Given the description of an element on the screen output the (x, y) to click on. 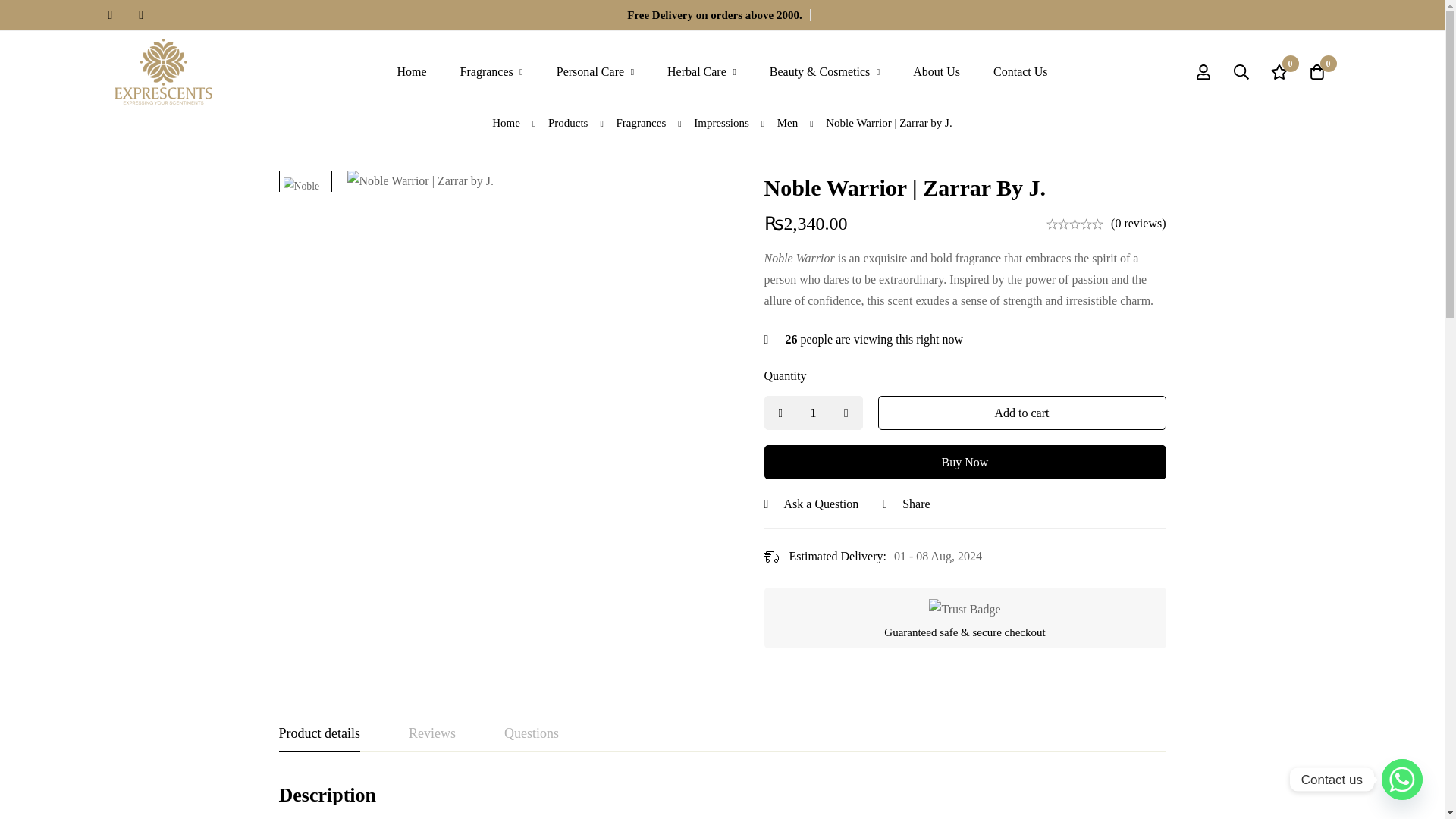
Herbal Care (701, 71)
1 (813, 412)
Fragrances (492, 71)
Personal Care (595, 71)
Home (411, 71)
